Given the description of an element on the screen output the (x, y) to click on. 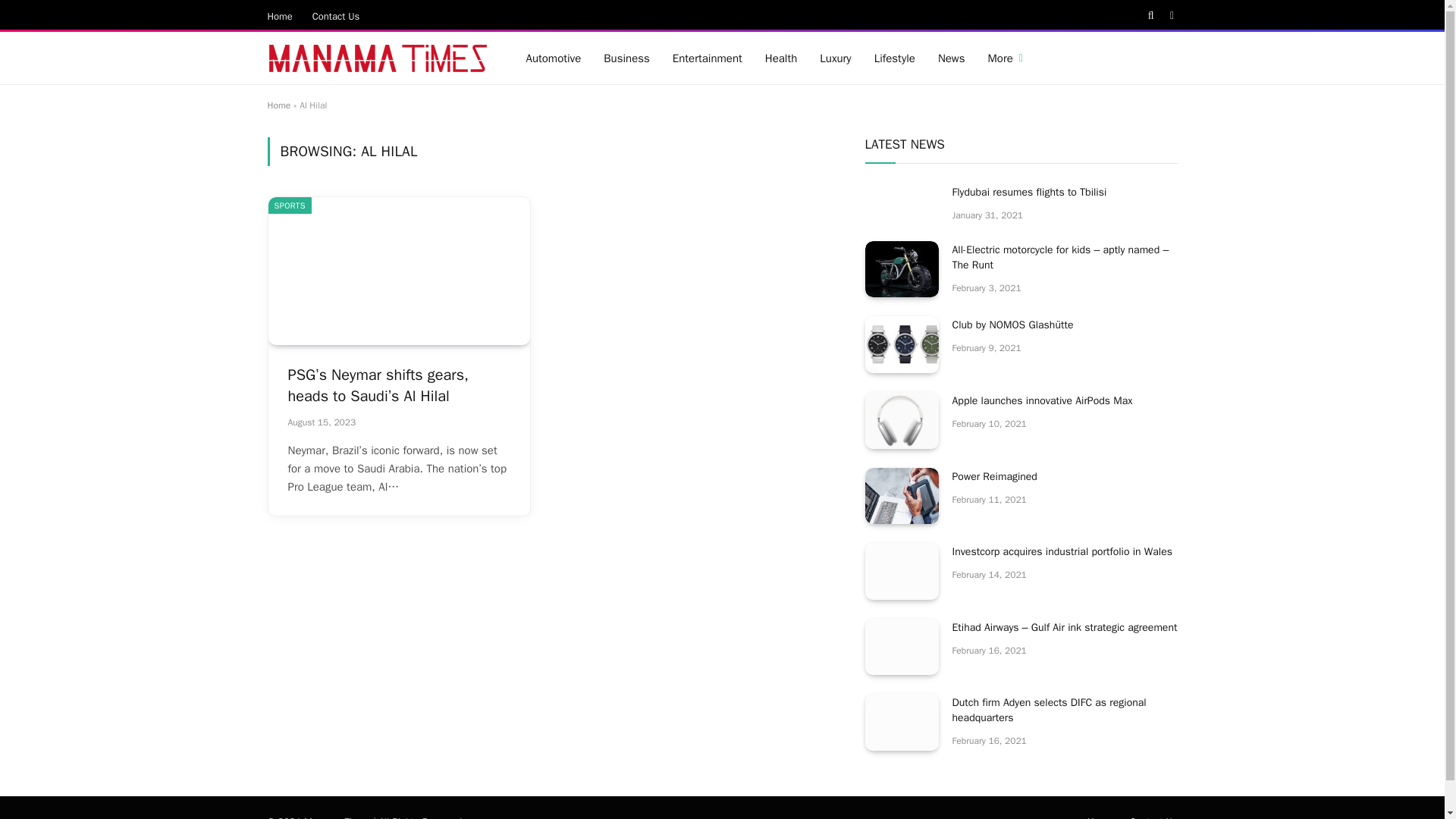
Flydubai resumes flights to Tbilisi (1064, 192)
Luxury (834, 57)
Health (781, 57)
Automotive (552, 57)
Contact Us (335, 15)
Home (277, 105)
Power Reimagined (901, 495)
Business (626, 57)
Manama Times (376, 57)
More (1004, 57)
